Given the description of an element on the screen output the (x, y) to click on. 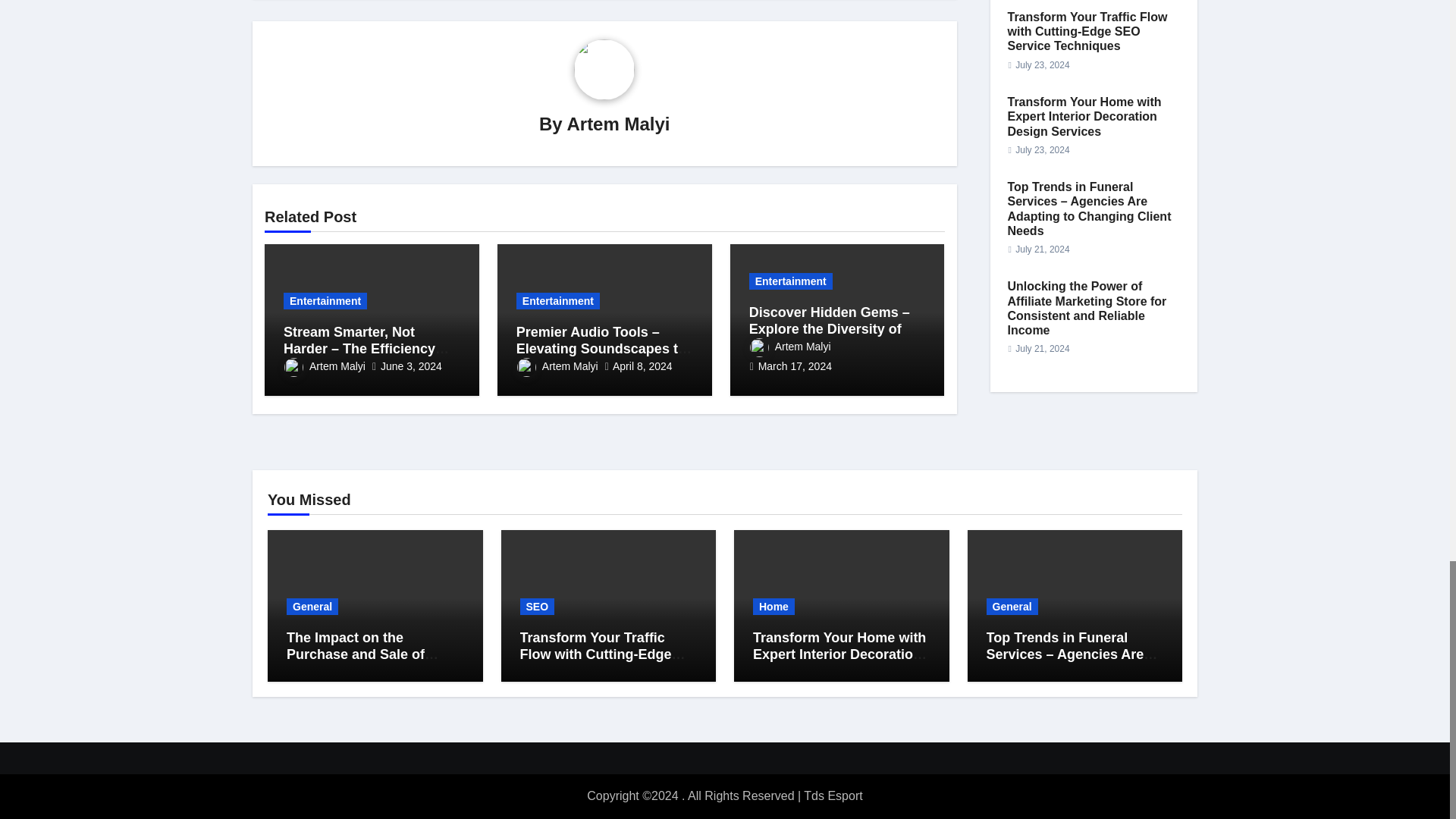
Artem Malyi (617, 123)
